Given the description of an element on the screen output the (x, y) to click on. 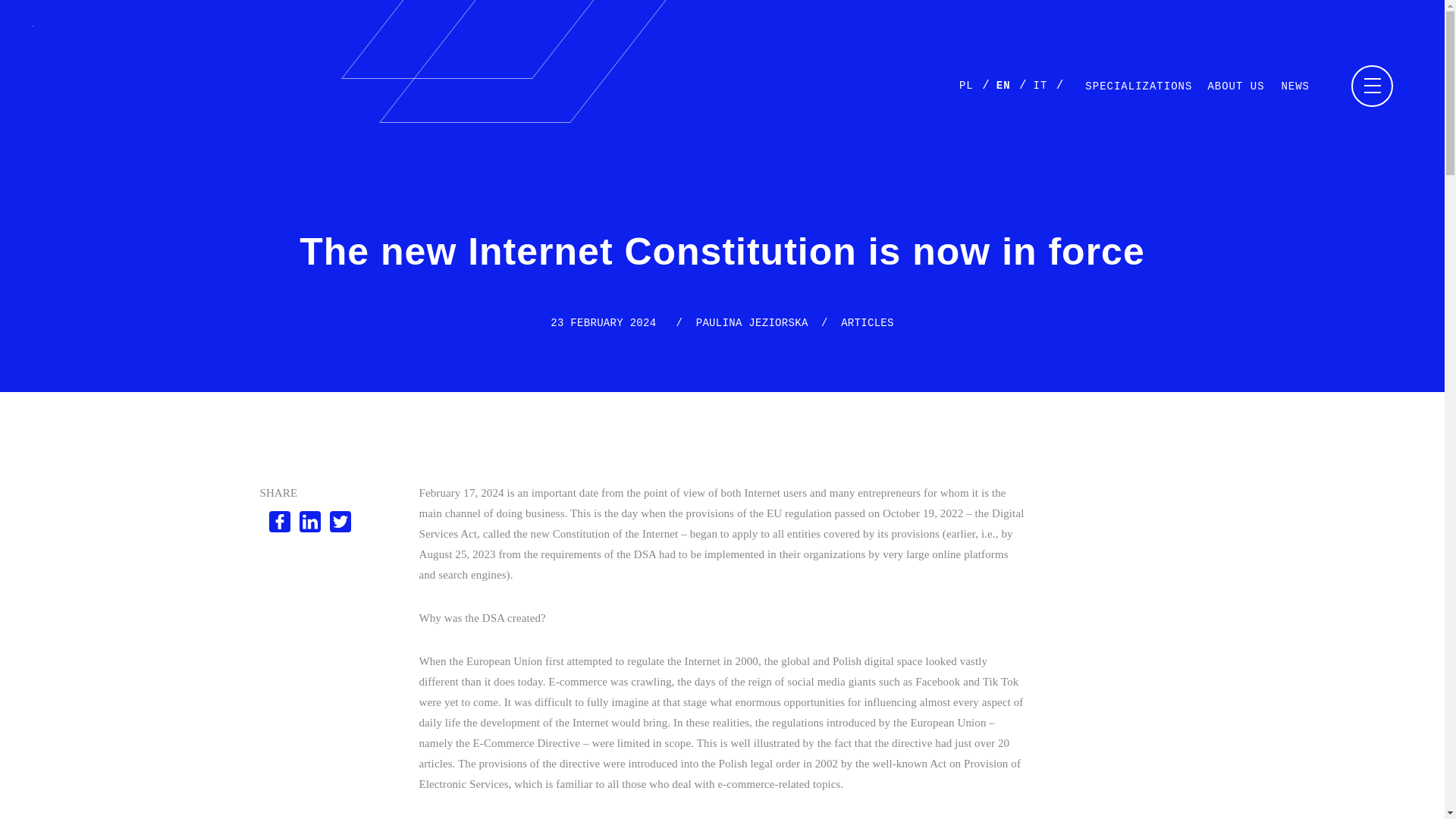
EN (1002, 85)
PAULINA JEZIORSKA (751, 322)
SPECIALIZATIONS (1138, 86)
ABOUT US (1239, 86)
Kancelaria LBKP Legal (82, 24)
IT (1040, 85)
ARTICLES (867, 322)
PL (966, 85)
